Given the description of an element on the screen output the (x, y) to click on. 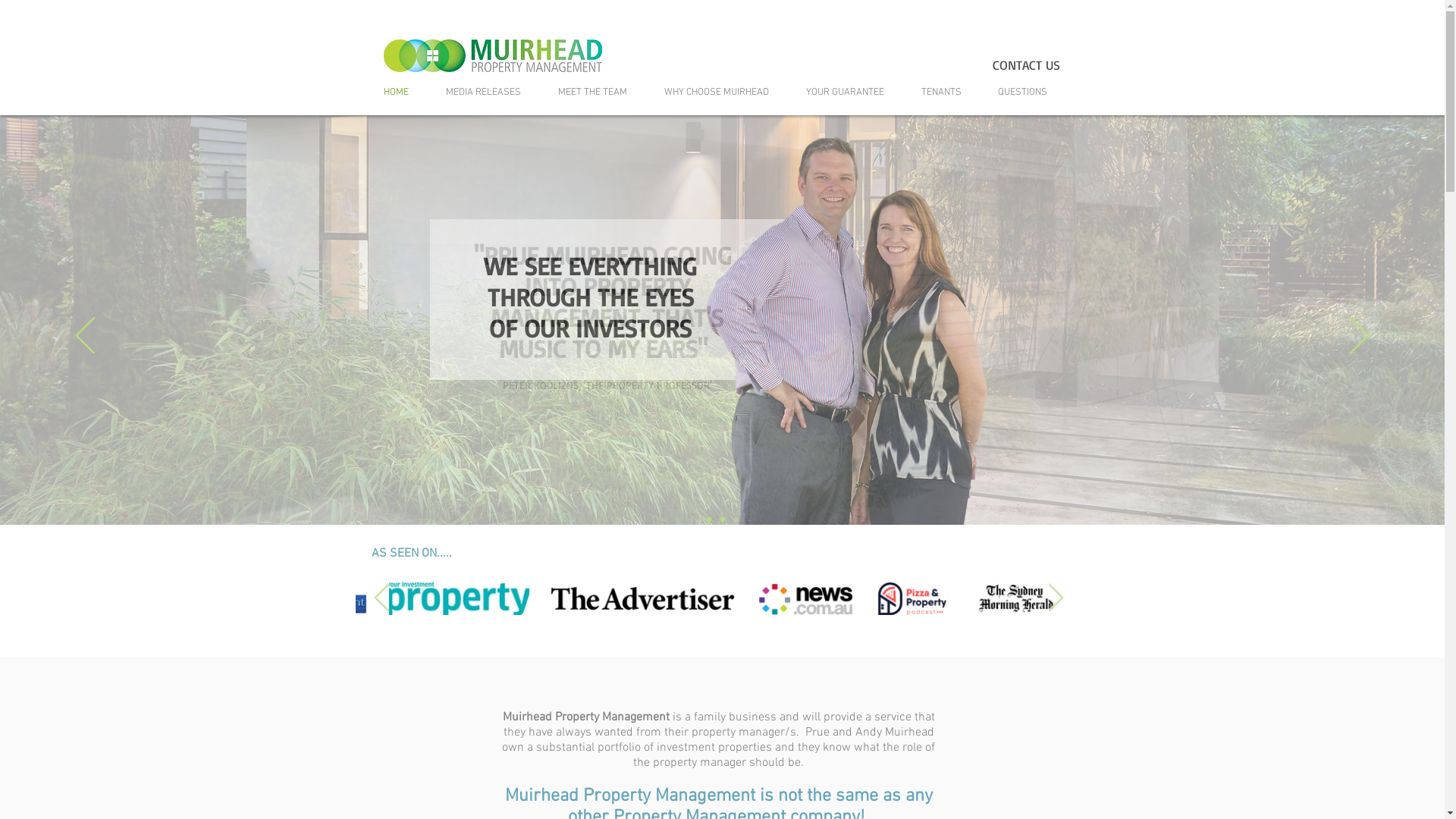
YOUR GUARANTEE Element type: text (852, 91)
TENANTS Element type: text (948, 91)
CONTACT US Element type: text (1025, 64)
QUESTIONS Element type: text (1028, 91)
HOME Element type: text (402, 91)
MEET THE TEAM Element type: text (599, 91)
WHY CHOOSE MUIRHEAD Element type: text (722, 91)
MEDIA RELEASES Element type: text (489, 91)
